Given the description of an element on the screen output the (x, y) to click on. 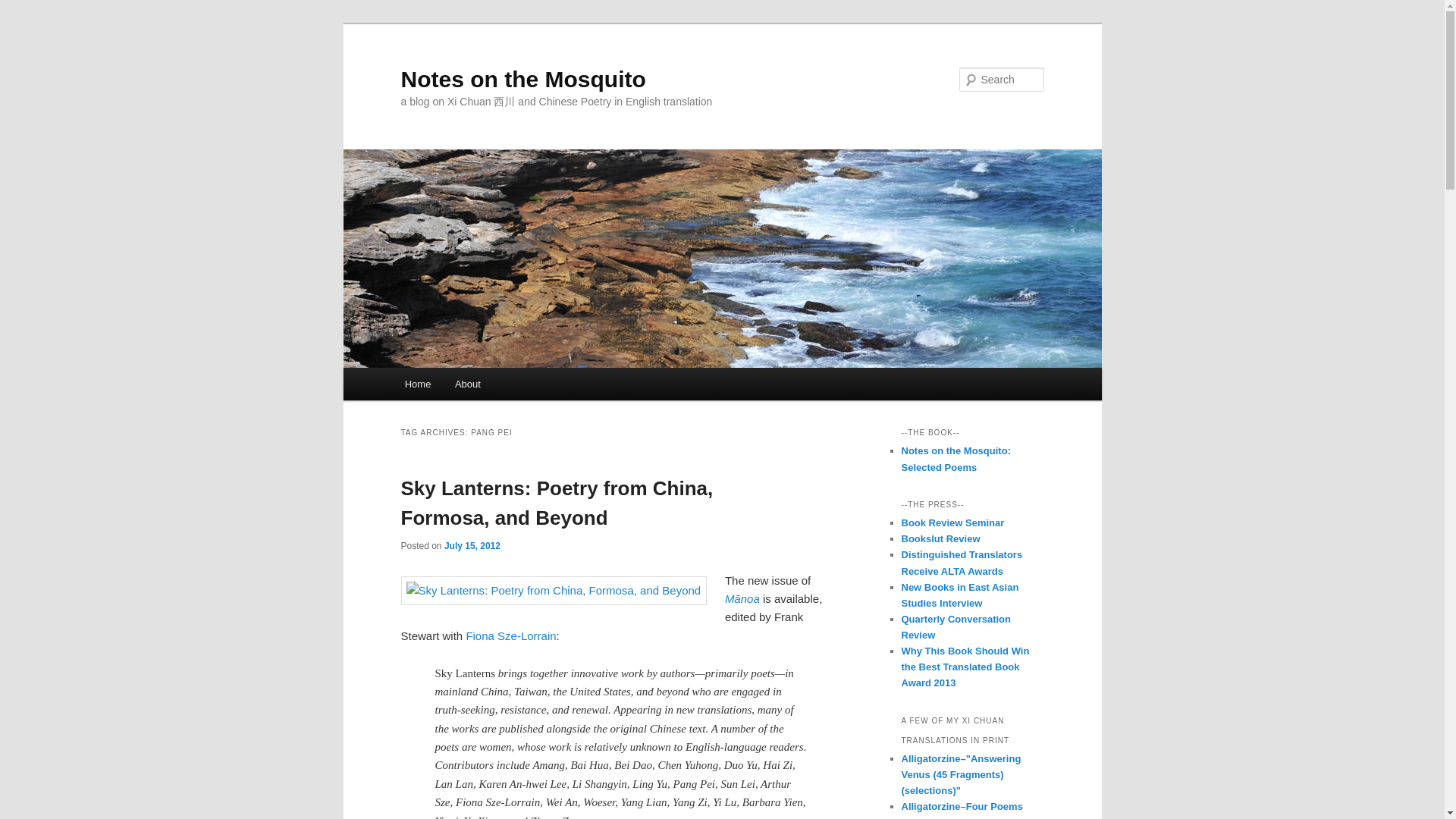
Fiona Sze-Lorrain (510, 635)
by Xi Chuan, translated by Lucas Klein (955, 458)
Chris Lupke, forthcoming in Chinese Literature Today (952, 522)
Sky Lanterns: Poetry from China, Formosa, and Beyond (556, 502)
About (467, 383)
by Eleanor Goodman (955, 626)
Carla Nappi interviews translator Lucas Klein (959, 595)
Home (417, 383)
Lucien Stryk Prize Press Release (961, 562)
